Given the description of an element on the screen output the (x, y) to click on. 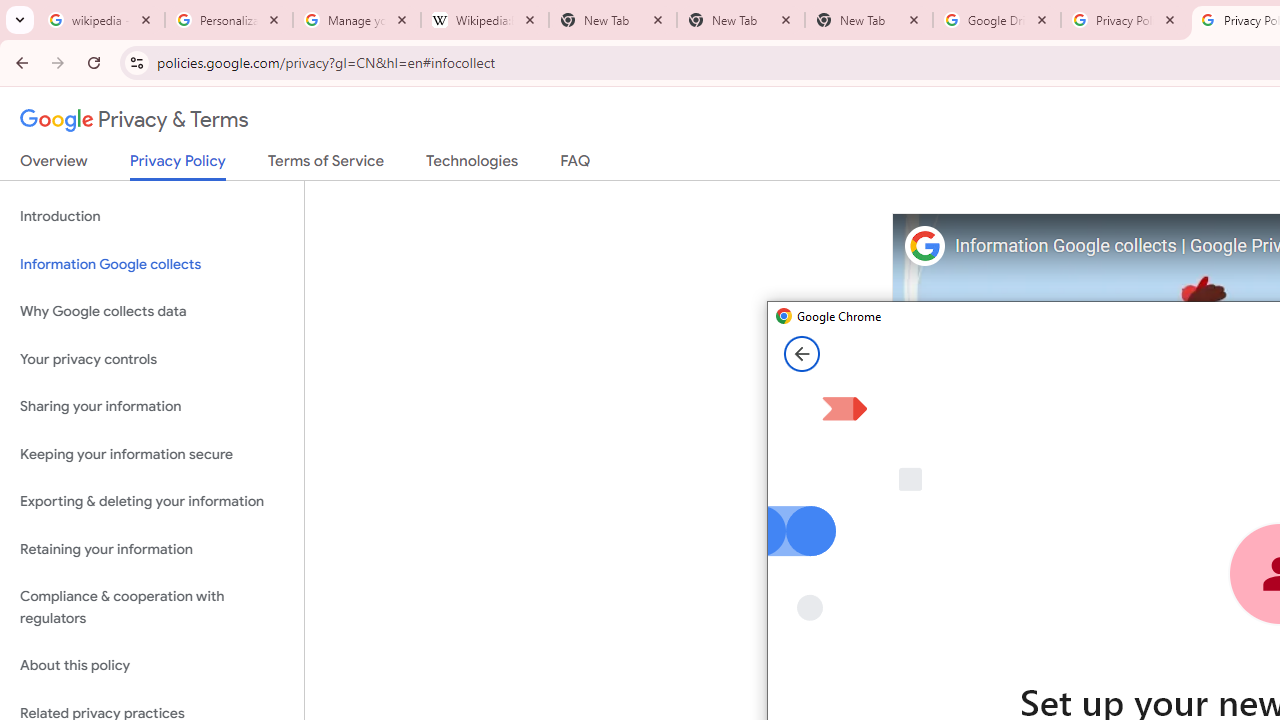
Compliance & cooperation with regulators (152, 607)
Overview (54, 165)
Technologies (472, 165)
Back from Set up your new Chrome profile page (801, 354)
New Tab (741, 20)
Why Google collects data (152, 312)
Personalization & Google Search results - Google Search Help (229, 20)
Manage your Location History - Google Search Help (357, 20)
About this policy (152, 666)
New Tab (869, 20)
Terms of Service (326, 165)
